Given the description of an element on the screen output the (x, y) to click on. 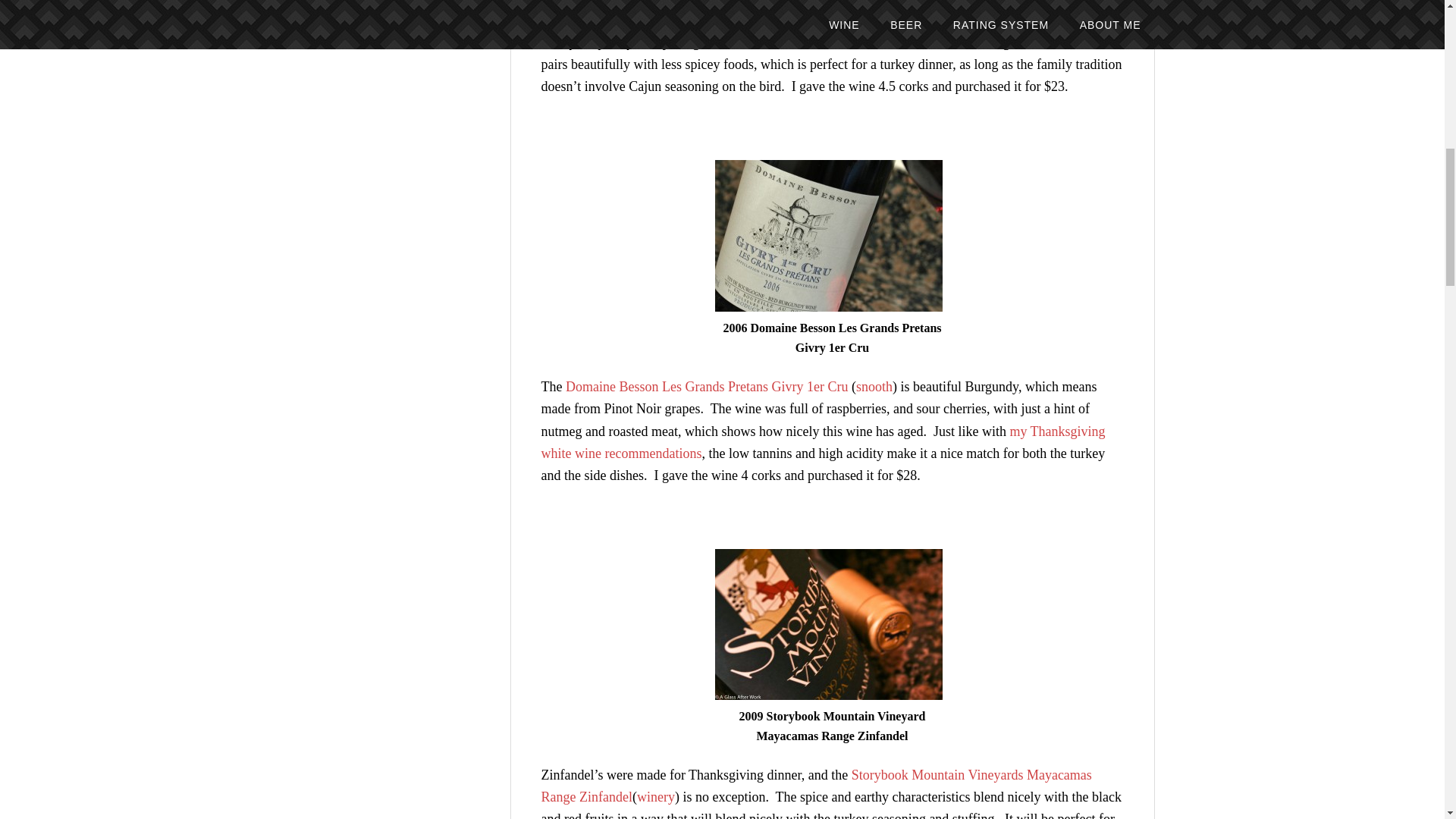
2009 Storybook Mountain Vineyard Mayacamas Range Zinfandel (828, 624)
Edna Valley Pinot Noir (629, 19)
2006 Domaine Besson Les Grands Pretans Givry 1er Cru  (828, 235)
